Given the description of an element on the screen output the (x, y) to click on. 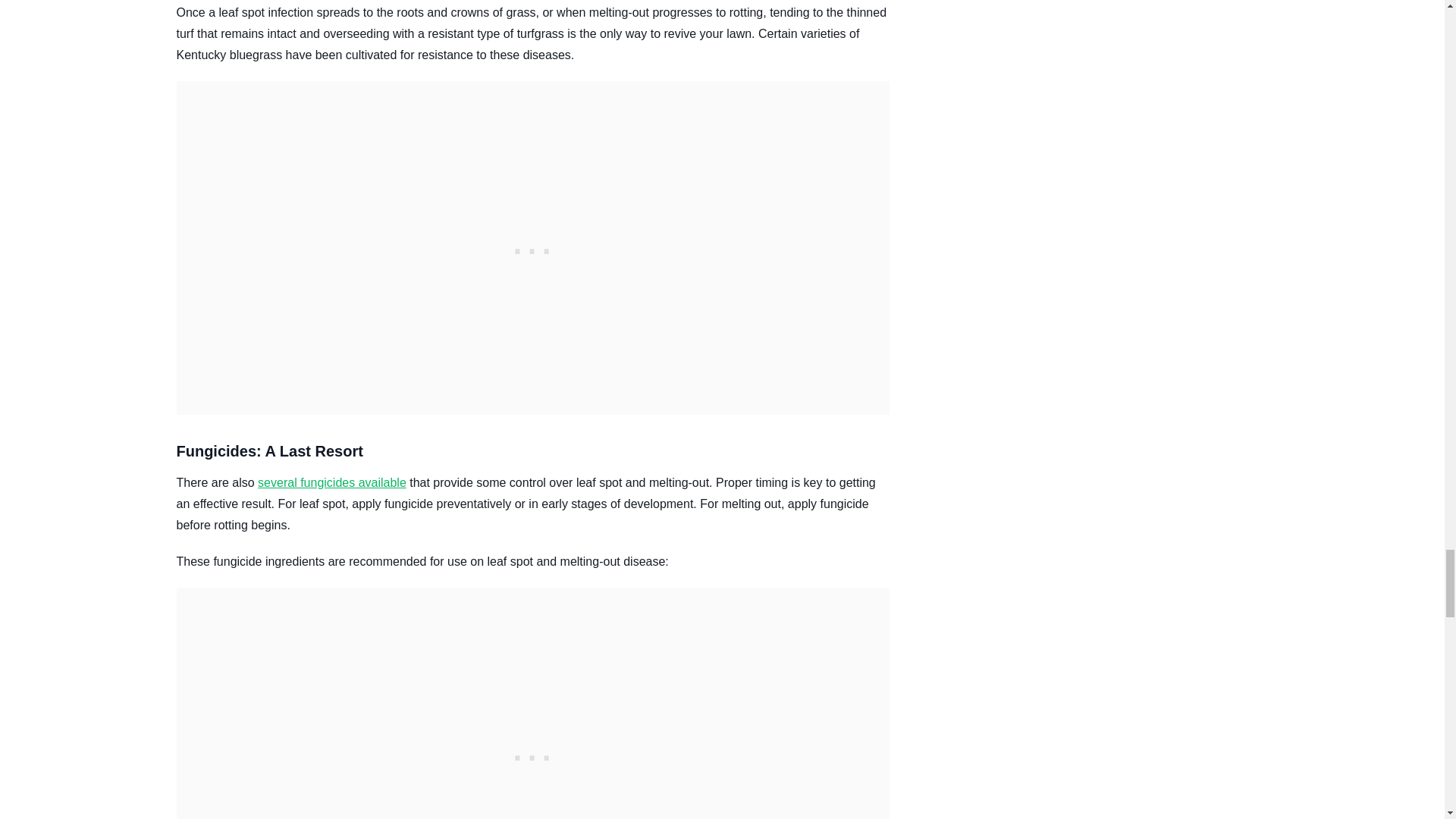
several fungicides available (331, 481)
